Given the description of an element on the screen output the (x, y) to click on. 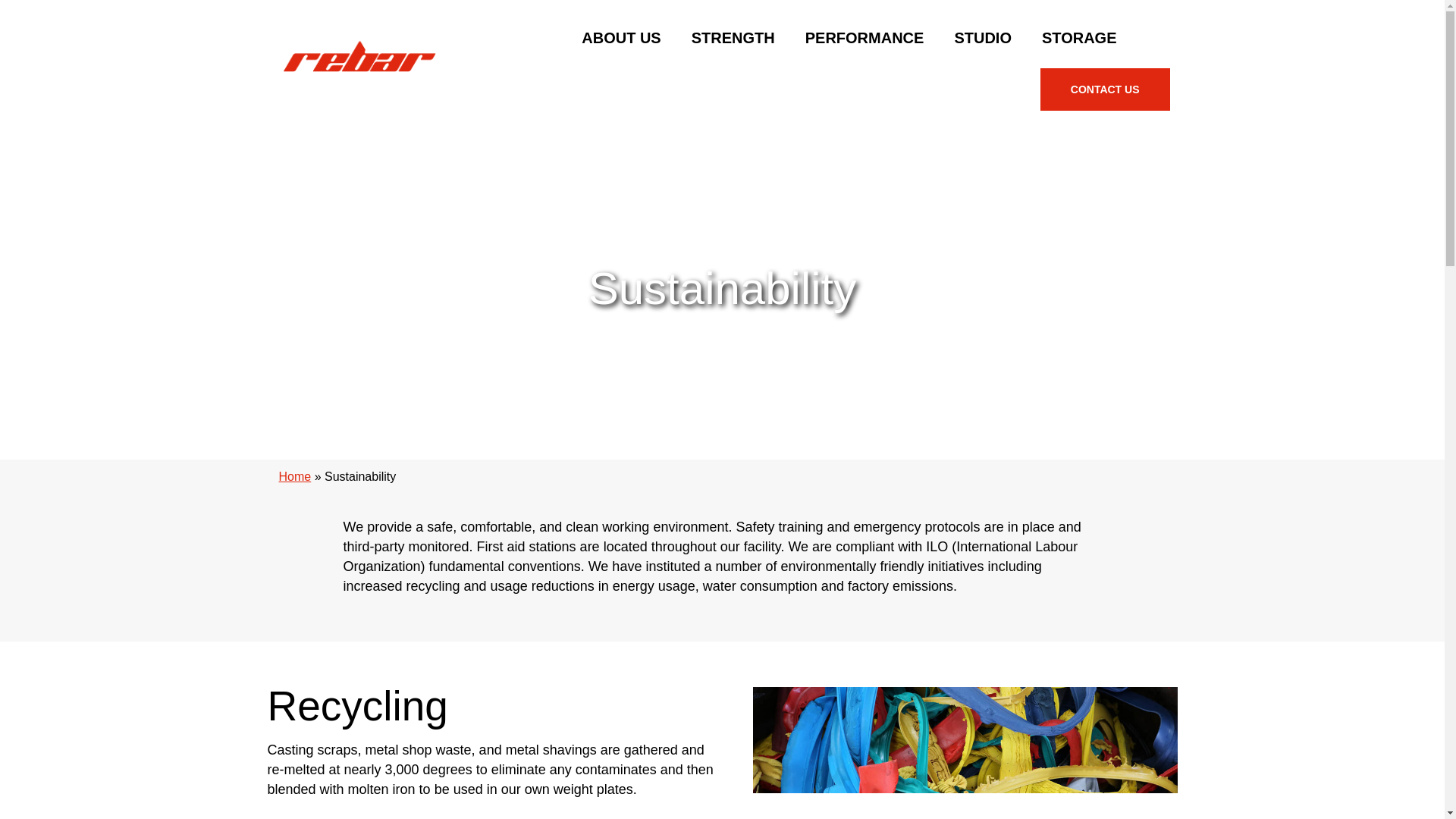
PERFORMANCE (864, 37)
STRENGTH (732, 37)
STUDIO (982, 37)
ABOUT US (620, 37)
STORAGE (1079, 37)
